Given the description of an element on the screen output the (x, y) to click on. 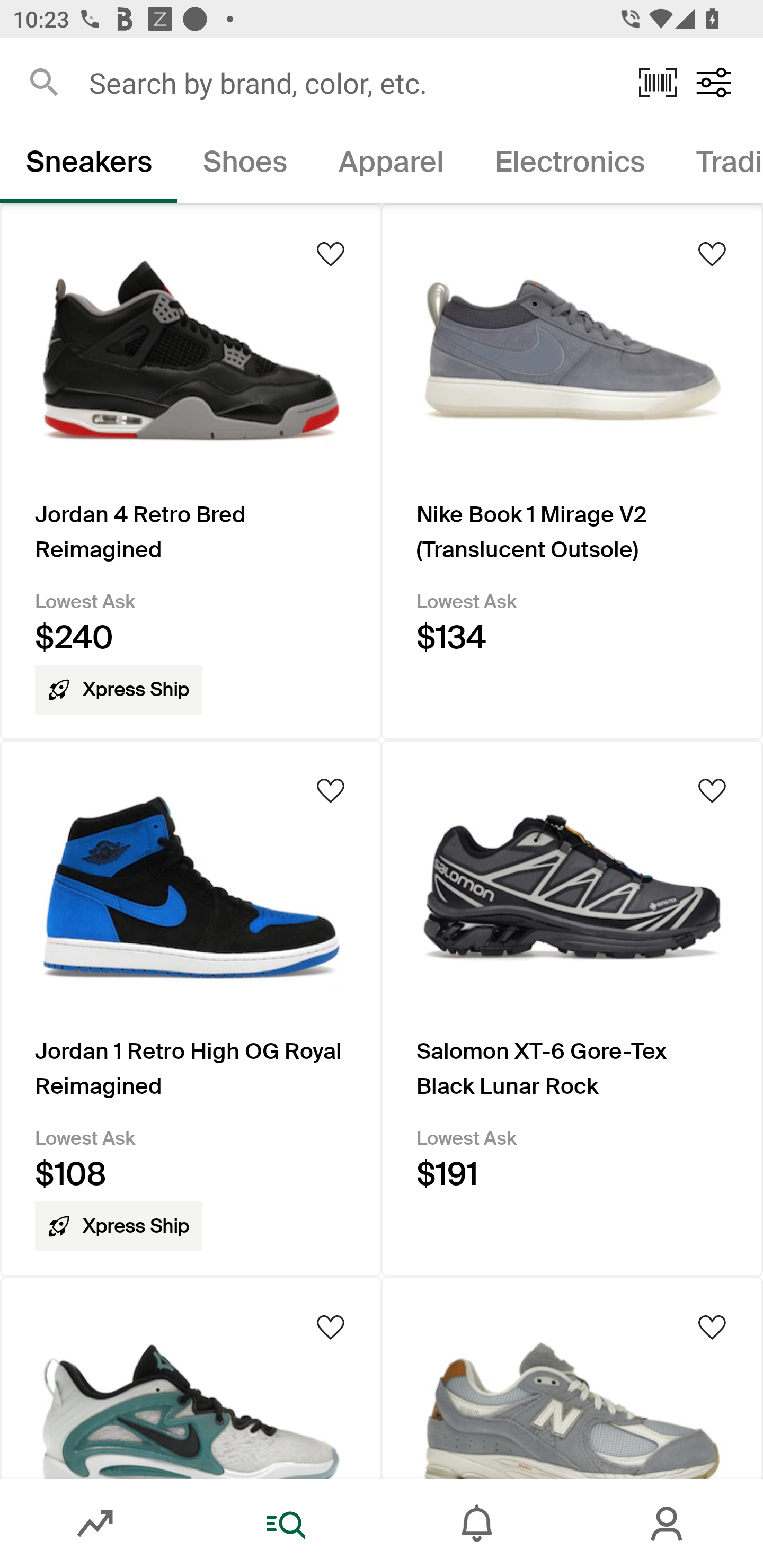
Search by brand, color, etc. (351, 82)
Shoes (244, 165)
Apparel (390, 165)
Electronics (569, 165)
Product Image (190, 1377)
Product Image (572, 1377)
Market (95, 1523)
Inbox (476, 1523)
Account (667, 1523)
